Given the description of an element on the screen output the (x, y) to click on. 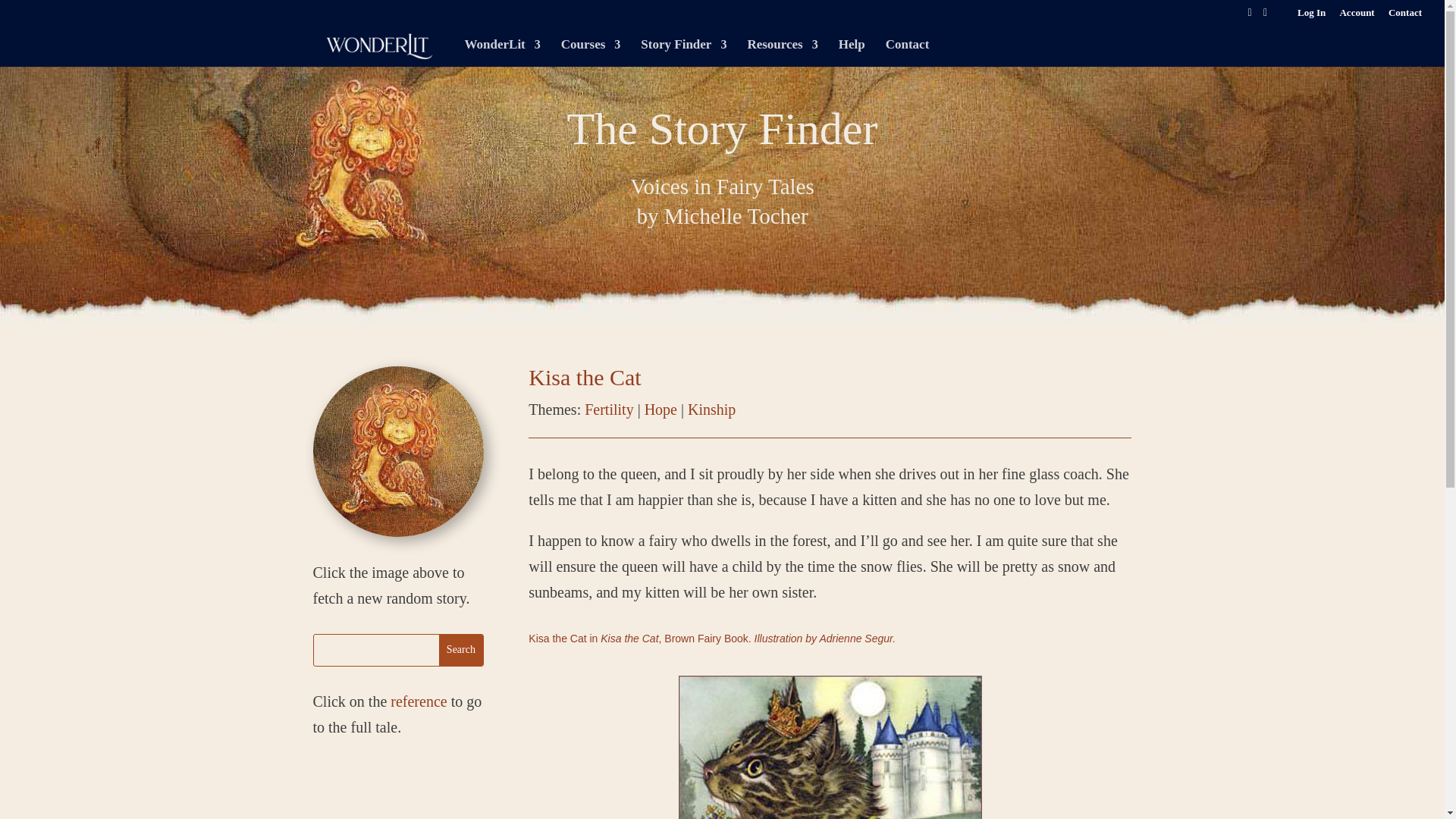
Search (461, 649)
Courses (590, 52)
Search (461, 649)
Help (851, 52)
Kinship (711, 409)
Search (461, 649)
Hope (661, 409)
Contact (1405, 16)
WonderLit (502, 52)
